Given the description of an element on the screen output the (x, y) to click on. 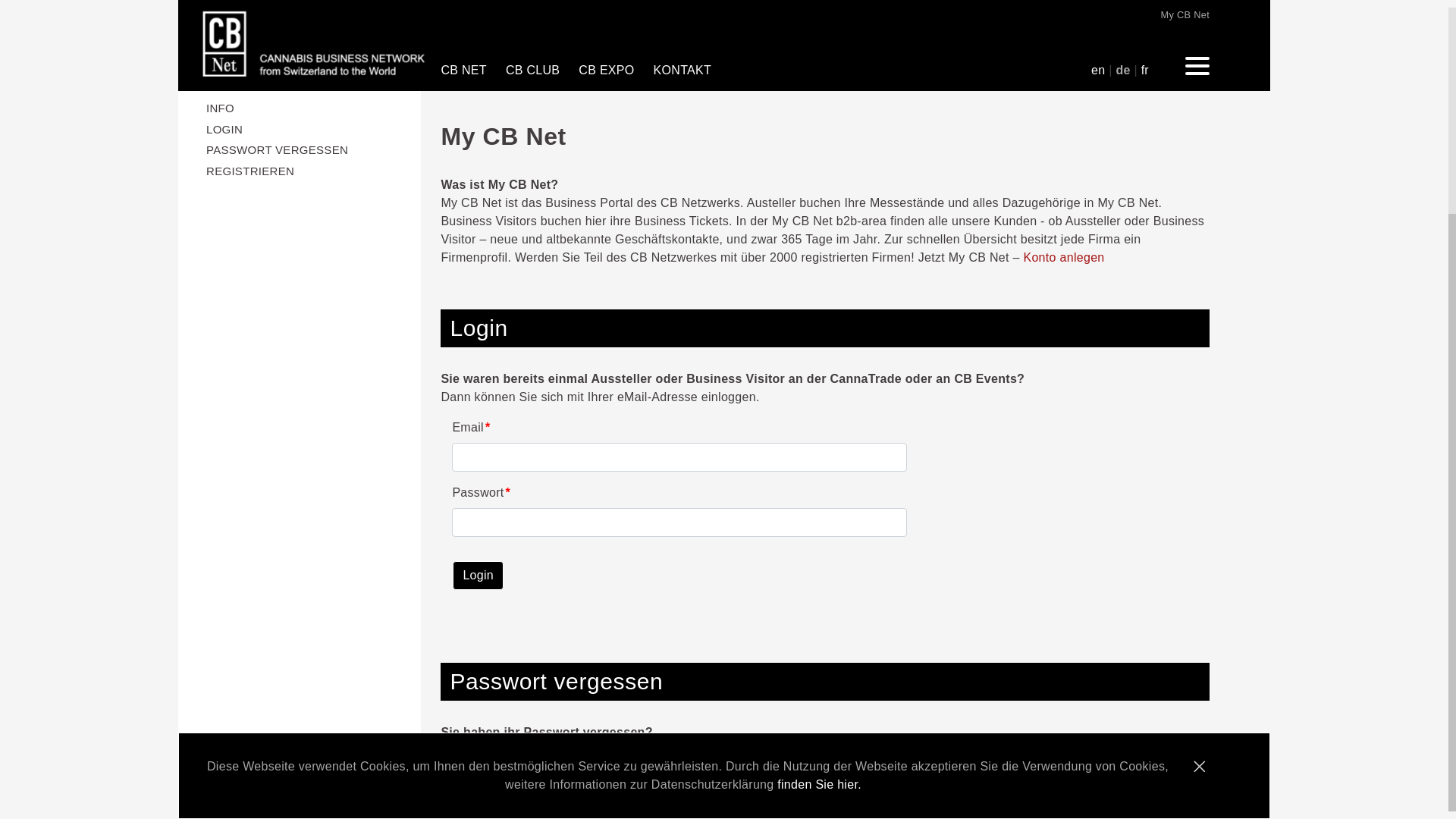
Login Element type: text (477, 575)
My CB Net Element type: text (1184, 14)
finden Sie hier. Element type: text (823, 784)
fr Element type: text (1144, 69)
MEDIA Element type: text (535, 759)
> MY CB NET Element type: text (705, 759)
REGISTRIEREN Element type: text (307, 170)
Konto anlegen Element type: text (1063, 257)
CB NET Element type: text (472, 70)
CB EXPO Element type: text (615, 70)
AGB Element type: text (684, 803)
Impressum Element type: text (626, 803)
LOGIN Element type: text (298, 129)
PASSWORT VERGESSEN Element type: text (307, 149)
REGISTRIEREN Element type: text (298, 171)
KONTAKT Element type: text (691, 70)
de Element type: text (1122, 69)
CB CLUB Element type: text (541, 70)
en Element type: text (1097, 69)
Menu Element type: hover (1197, 65)
KONTAKT Element type: text (473, 759)
LOGIN Element type: text (307, 128)
PASSWORT VERGESSEN Element type: text (298, 150)
INFO Element type: text (307, 107)
NEWSLETTER Element type: text (611, 759)
INFO Element type: text (298, 108)
